Given the description of an element on the screen output the (x, y) to click on. 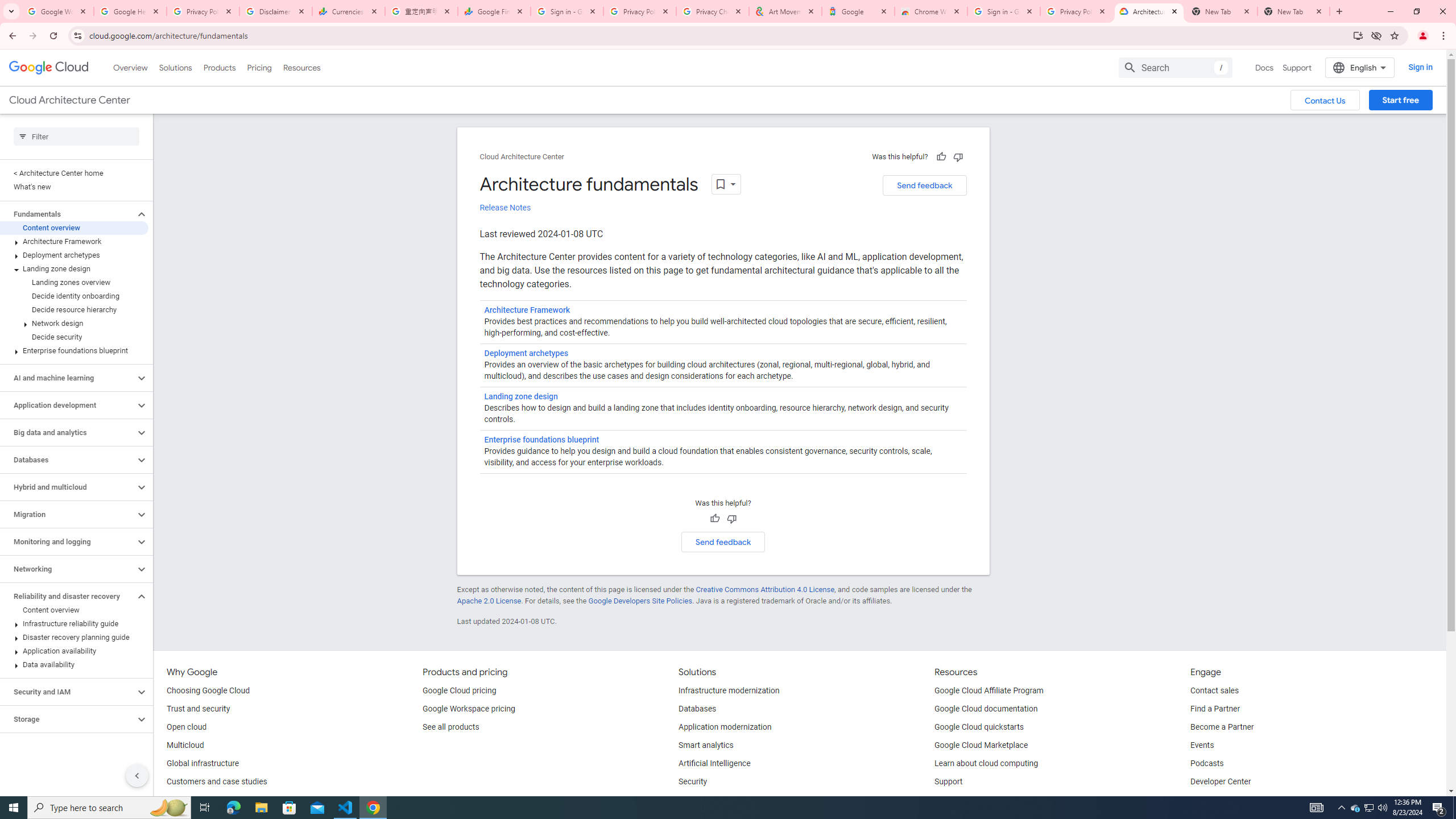
Disaster recovery planning guide (74, 637)
Multicloud (184, 745)
Artificial Intelligence (714, 764)
Architecture Framework (526, 310)
Google Workspace pricing (468, 709)
Pricing (259, 67)
Big data and analytics (67, 432)
Customers and case studies (216, 782)
Databases (67, 459)
Hide side navigation (136, 775)
